Given the description of an element on the screen output the (x, y) to click on. 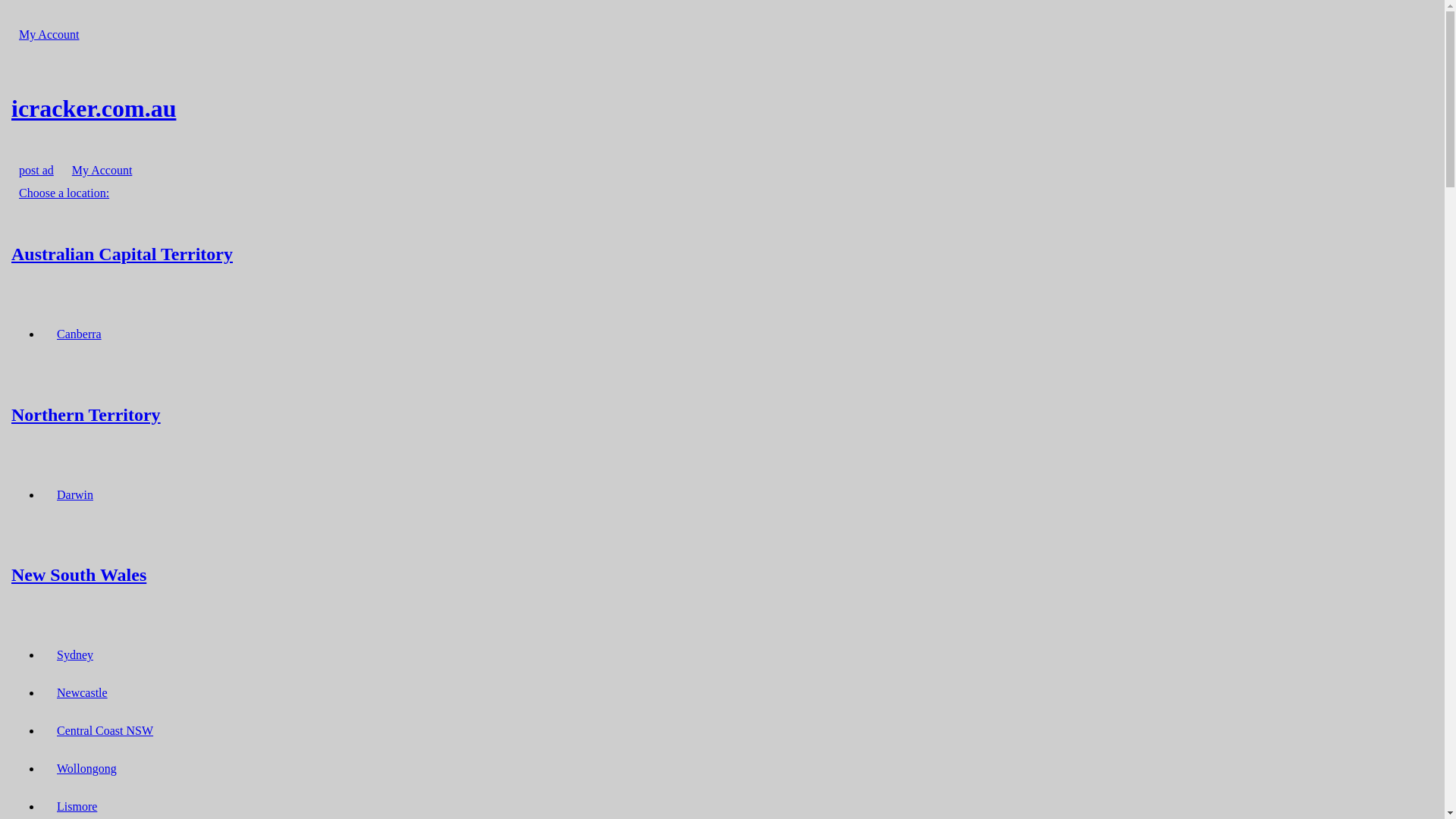
Newcastle Element type: text (82, 692)
Wollongong Element type: text (86, 768)
Northern Territory Element type: text (722, 414)
icracker.com.au Element type: text (722, 108)
Choose a location: Element type: text (63, 192)
Canberra Element type: text (79, 334)
Darwin Element type: text (74, 494)
My Account Element type: text (49, 34)
post ad Element type: text (36, 170)
Australian Capital Territory Element type: text (722, 253)
Sydney Element type: text (74, 654)
My Account Element type: text (102, 170)
New South Wales Element type: text (722, 575)
Central Coast NSW Element type: text (104, 730)
